Given the description of an element on the screen output the (x, y) to click on. 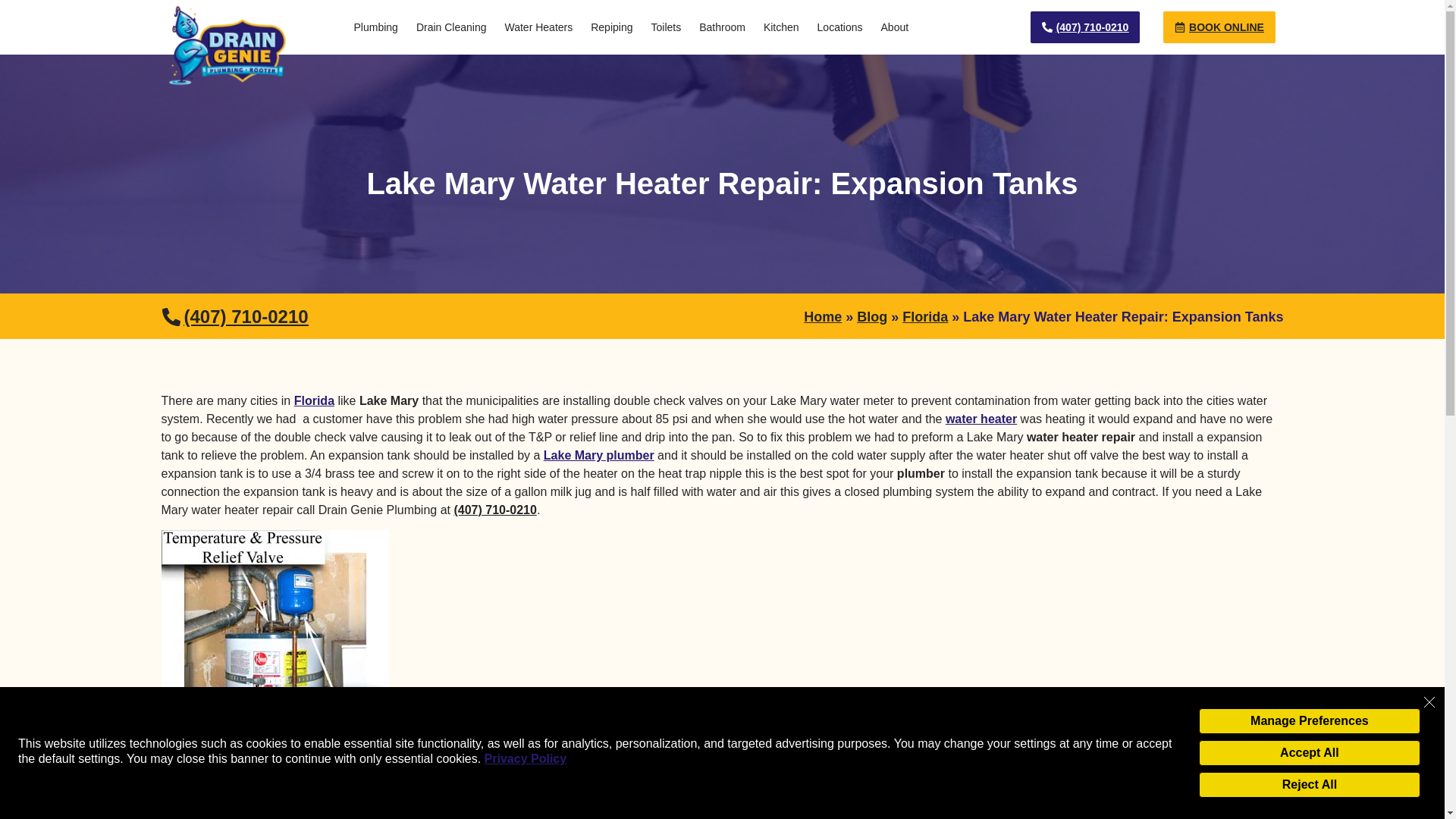
Toilets (666, 26)
Plumbing (374, 26)
Lake Mary FL Plumbing (598, 454)
Reject All (1309, 784)
Manage Preferences (1309, 720)
Privacy Policy (525, 758)
Repiping (611, 26)
About (895, 26)
Locations (840, 26)
Drain Cleaning (451, 26)
